Given the description of an element on the screen output the (x, y) to click on. 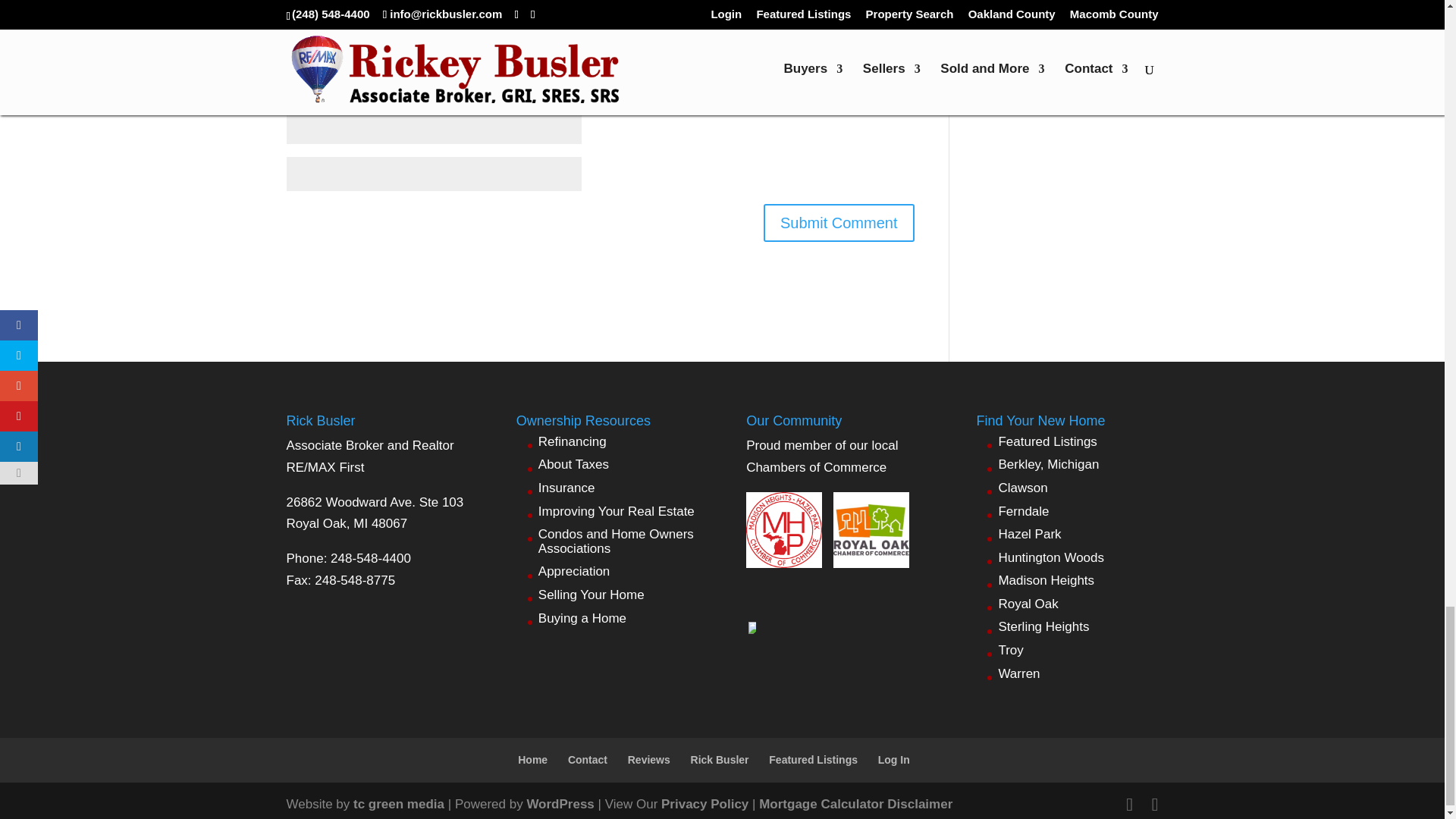
Submit Comment (838, 222)
